Given the description of an element on the screen output the (x, y) to click on. 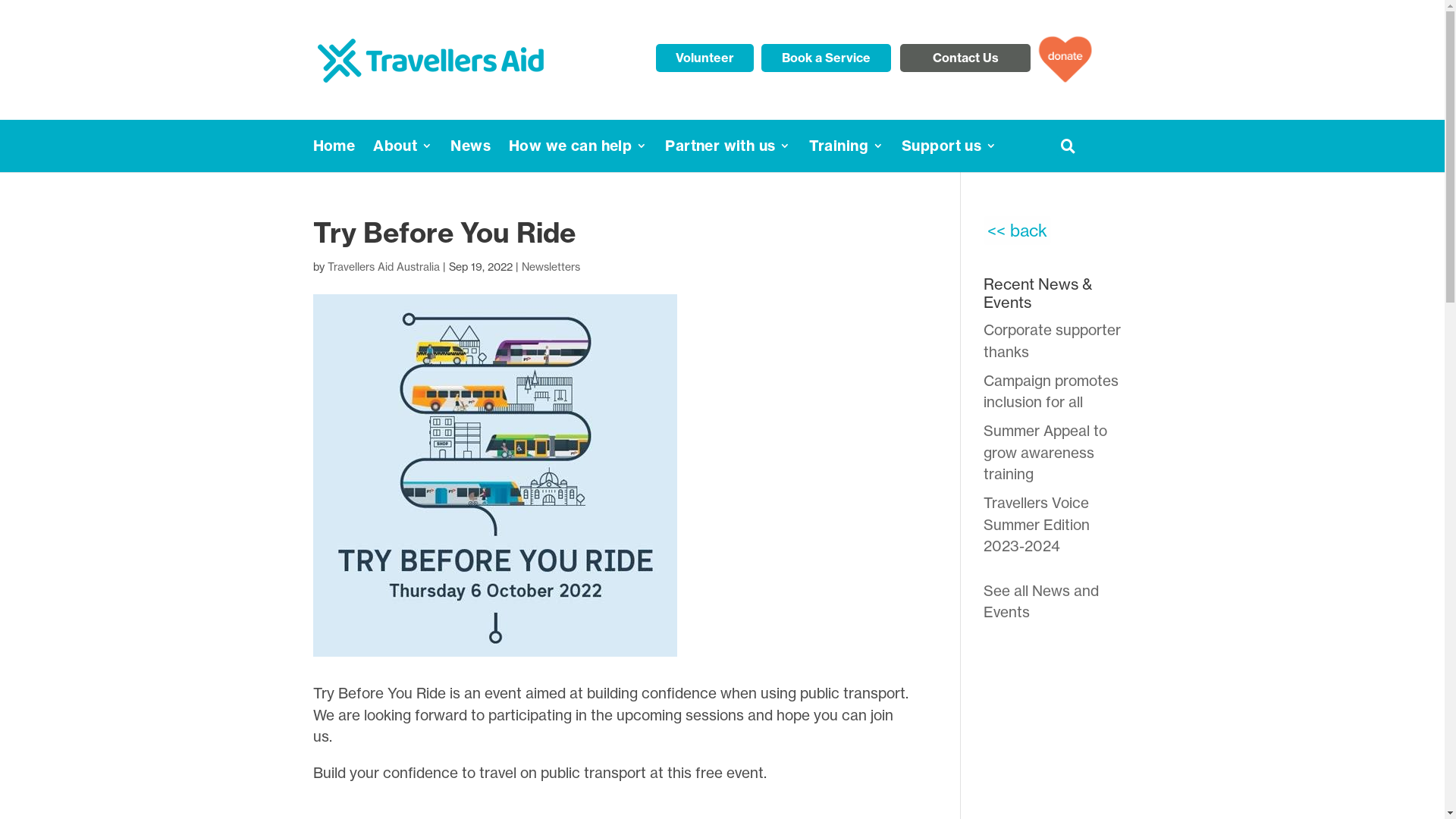
Travellers Voice Summer Edition 2023-2024 Element type: text (1036, 524)
Corporate supporter thanks Element type: text (1051, 340)
Newsletters Element type: text (550, 266)
About Element type: text (402, 145)
Training Element type: text (846, 145)
<< back Element type: text (1017, 230)
Partner with us Element type: text (727, 145)
Travellers Aid Australia Element type: text (383, 266)
Support us Element type: text (948, 145)
Contact Us Element type: text (965, 57)
Summer Appeal to grow awareness training Element type: text (1045, 452)
See all News and Events Element type: text (1040, 600)
How we can help Element type: text (577, 145)
News Element type: text (470, 145)
Book a Service Element type: text (826, 57)
Home Element type: text (333, 145)
Volunteer Element type: text (704, 57)
Campaign promotes inclusion for all Element type: text (1050, 391)
